Given the description of an element on the screen output the (x, y) to click on. 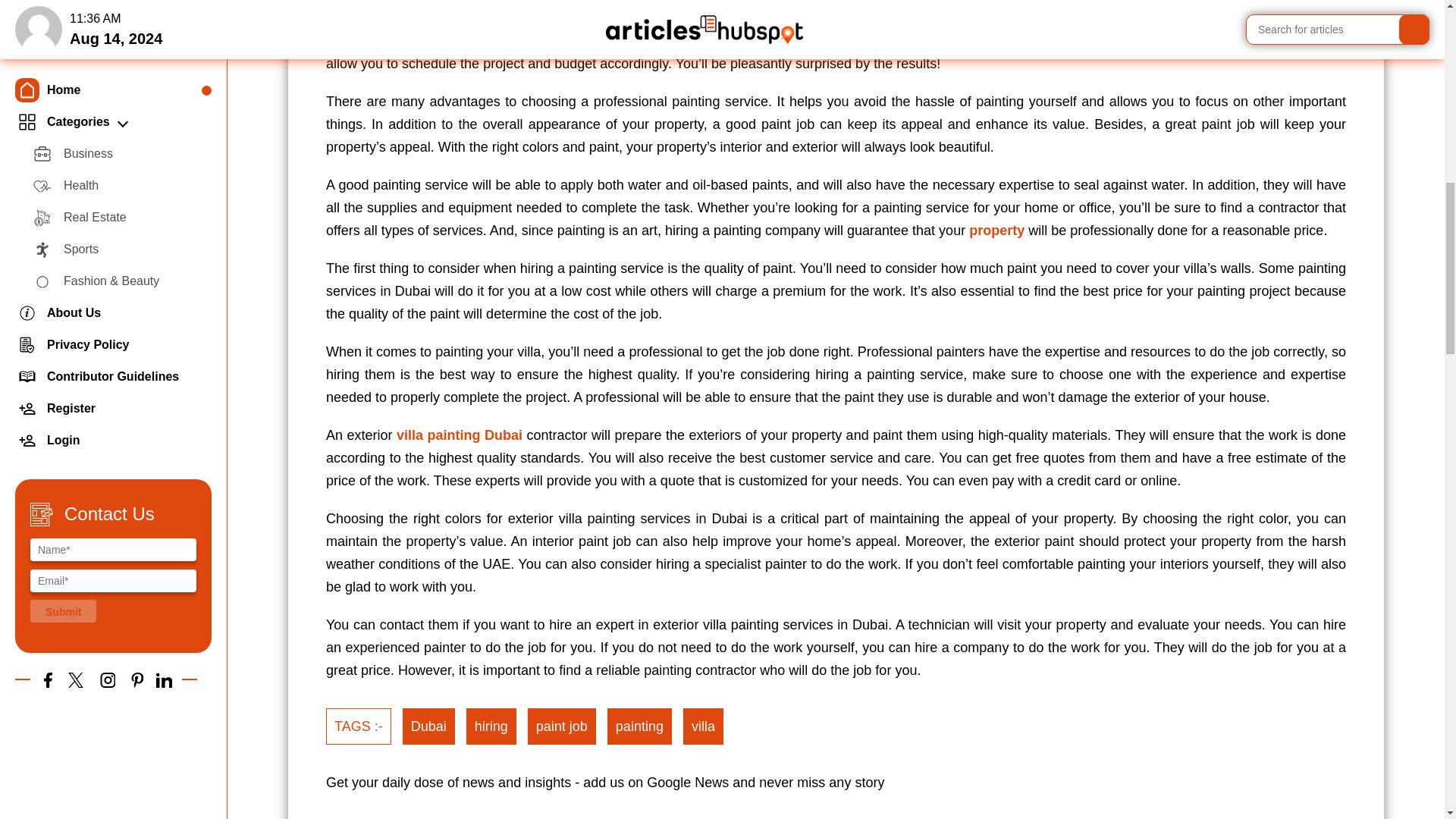
hiring (490, 726)
painting (639, 726)
TAGS :- (358, 726)
property (997, 230)
paint job (561, 726)
villa (702, 726)
villa painting Dubai (459, 435)
Dubai (428, 726)
